Given the description of an element on the screen output the (x, y) to click on. 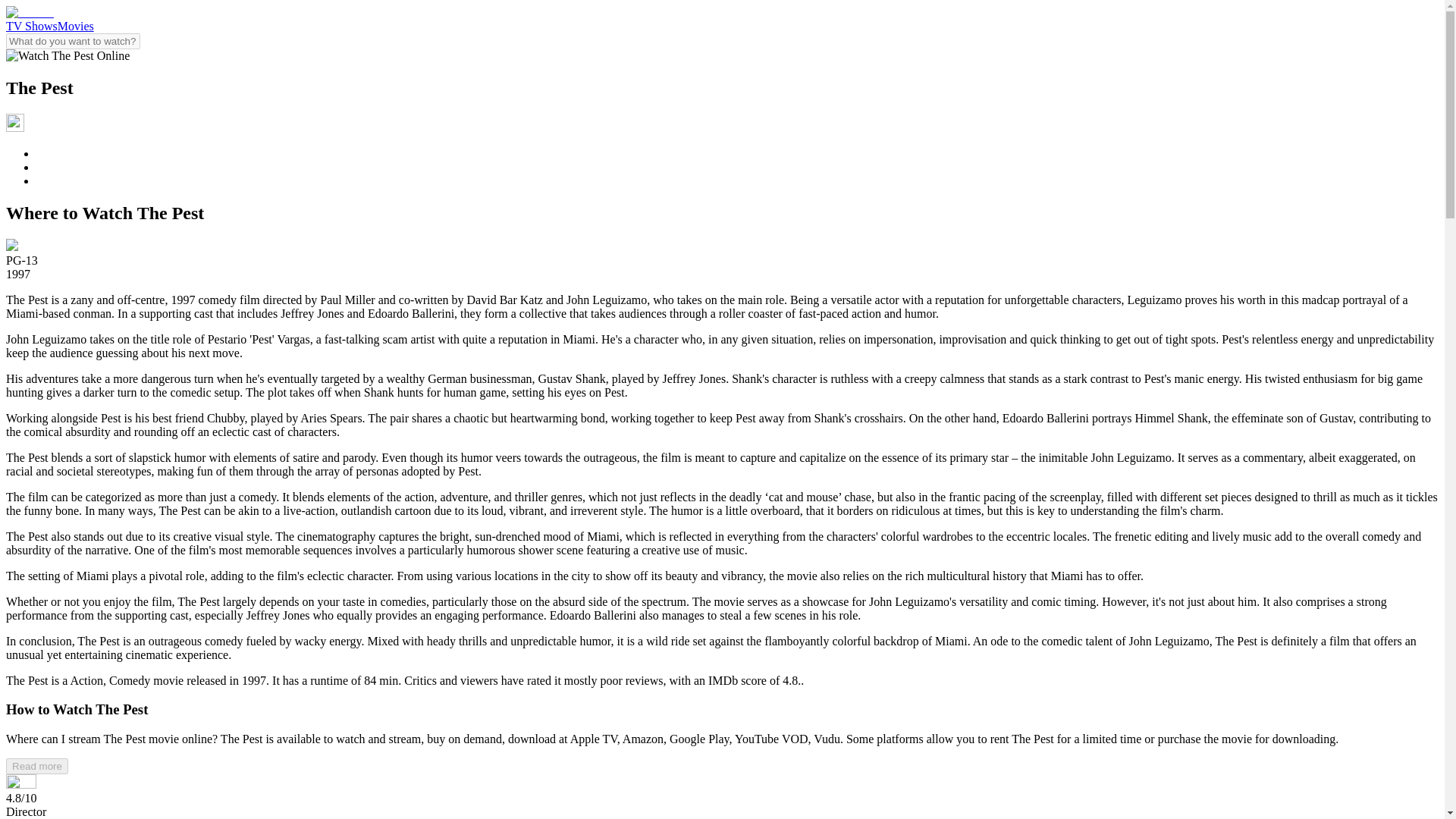
Movies (76, 25)
Read more (36, 765)
TV Shows (31, 25)
